Given the description of an element on the screen output the (x, y) to click on. 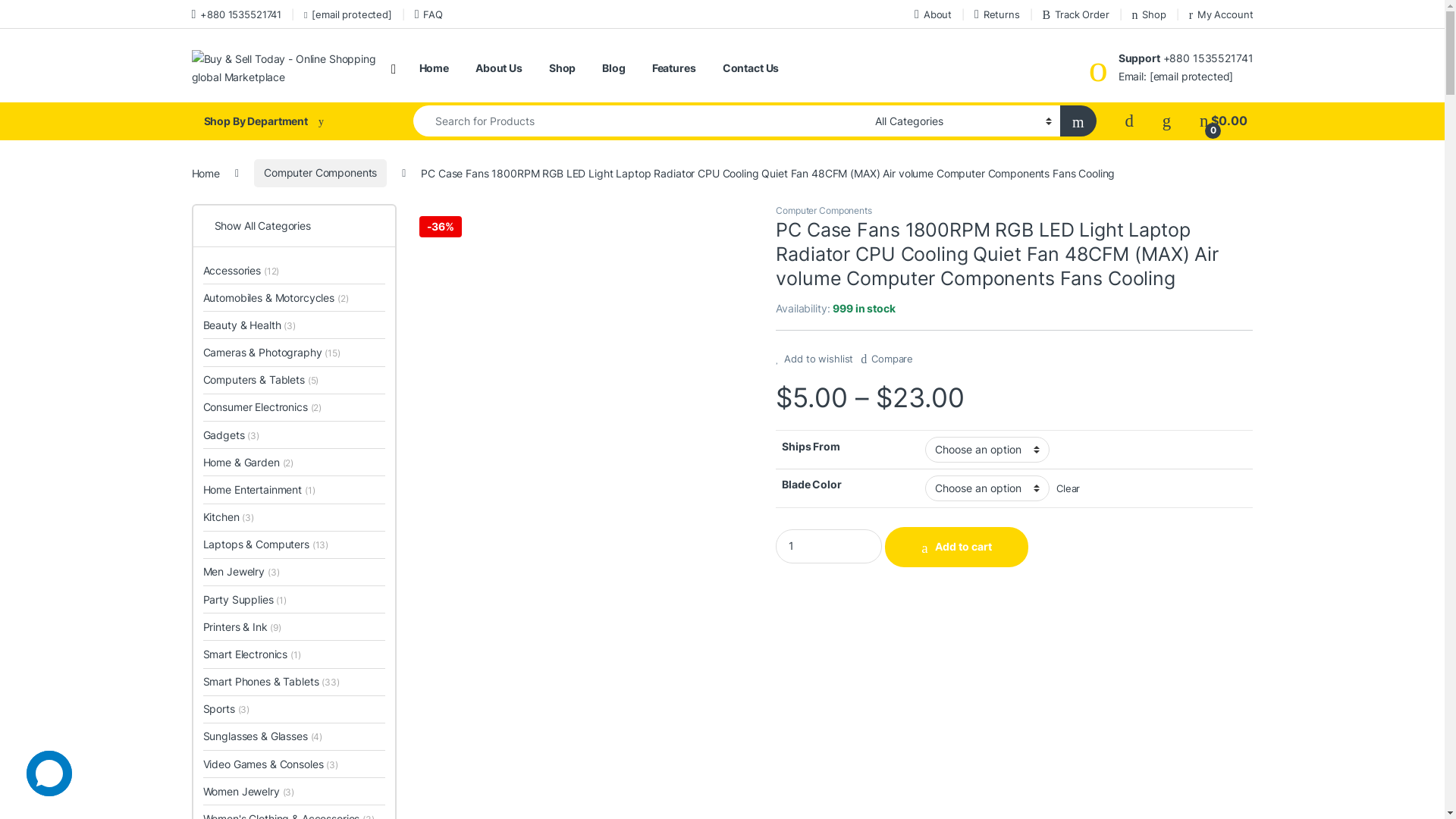
Shop Element type: text (562, 67)
About Us Element type: text (498, 67)
Home Entertainment (1) Element type: text (259, 489)
Home Element type: text (433, 67)
About Element type: text (932, 14)
Returns Element type: text (996, 14)
[email protected] Element type: text (1191, 75)
FAQ Element type: text (428, 14)
Computer Components Element type: text (823, 210)
Sunglasses & Glasses (4) Element type: text (263, 736)
Laptops & Computers (13) Element type: text (266, 544)
Add to cart Element type: text (956, 547)
0
$0.00 Element type: text (1222, 121)
Blog Element type: text (613, 67)
Home & Garden (2) Element type: text (248, 461)
Gadgets (3) Element type: text (231, 434)
+880 1535521741 Element type: text (236, 14)
Automobiles & Motorcycles (2) Element type: text (275, 297)
Shop By Department Element type: text (287, 121)
Smart Electronics (1) Element type: text (252, 653)
Beauty & Health (3) Element type: text (249, 324)
Kitchen (3) Element type: text (228, 516)
My Account Element type: text (1221, 14)
Compare Element type: text (886, 353)
Track Order Element type: text (1075, 14)
Shop Element type: text (1148, 14)
Consumer Electronics (2) Element type: text (262, 407)
Computer Components Element type: text (320, 173)
Computers & Tablets (5) Element type: text (261, 380)
Contact Us Element type: text (750, 67)
Video Games & Consoles (3) Element type: text (270, 763)
Party Supplies (1) Element type: text (245, 599)
Smart Phones & Tablets (33) Element type: text (271, 681)
Cameras & Photography (15) Element type: text (271, 351)
Accessories (12) Element type: text (241, 270)
Sports (3) Element type: text (226, 709)
Add to wishlist Element type: text (814, 358)
[email protected] Element type: text (348, 14)
Printers & Ink (9) Element type: text (242, 626)
Women Jewelry (3) Element type: text (248, 791)
Men Jewelry (3) Element type: text (241, 571)
Qty Element type: hover (828, 546)
Home Element type: text (205, 172)
Clear Element type: text (1067, 488)
Features Element type: text (674, 67)
